Given the description of an element on the screen output the (x, y) to click on. 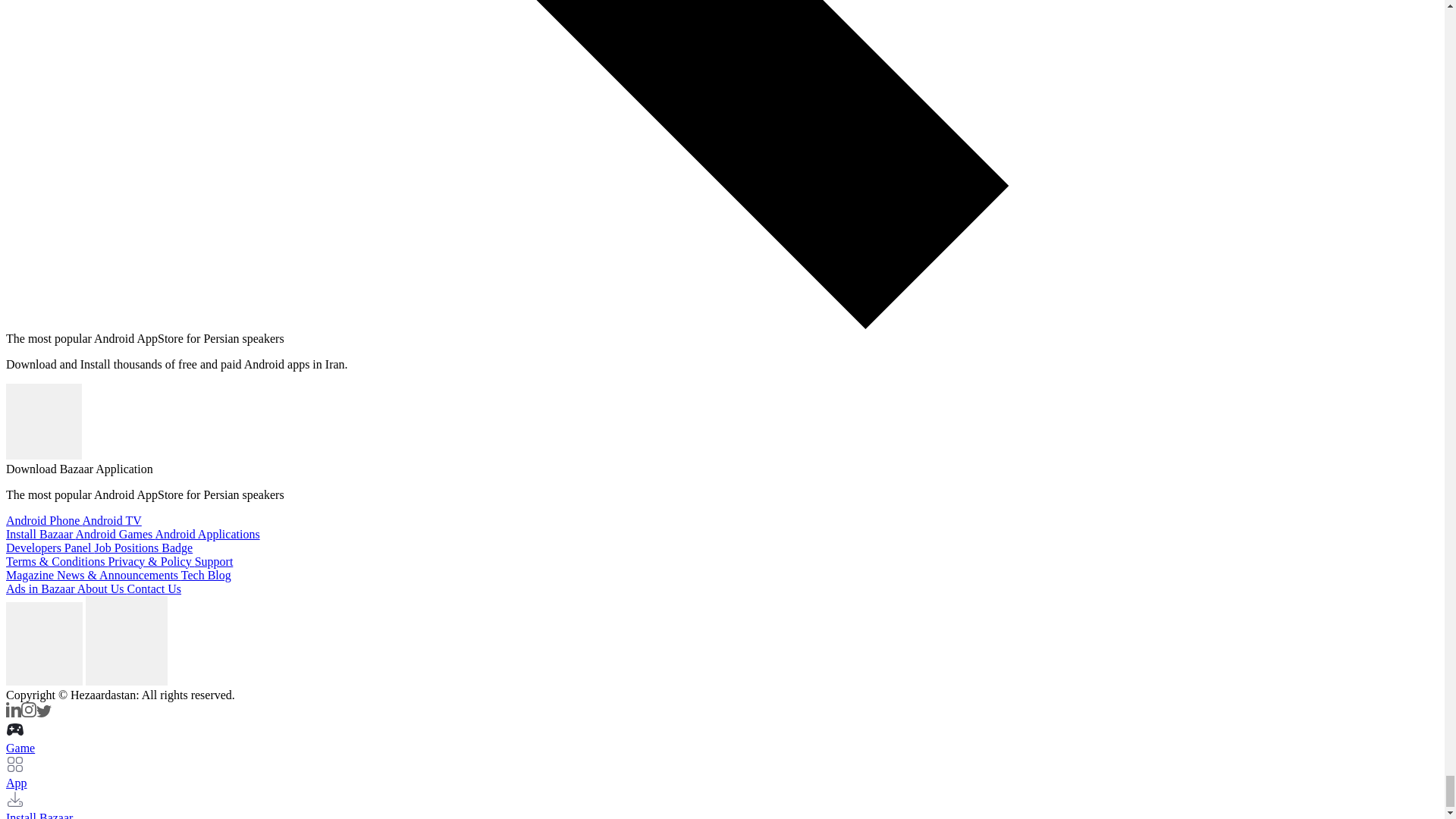
Install Bazaar (40, 533)
Android Games (115, 533)
